Given the description of an element on the screen output the (x, y) to click on. 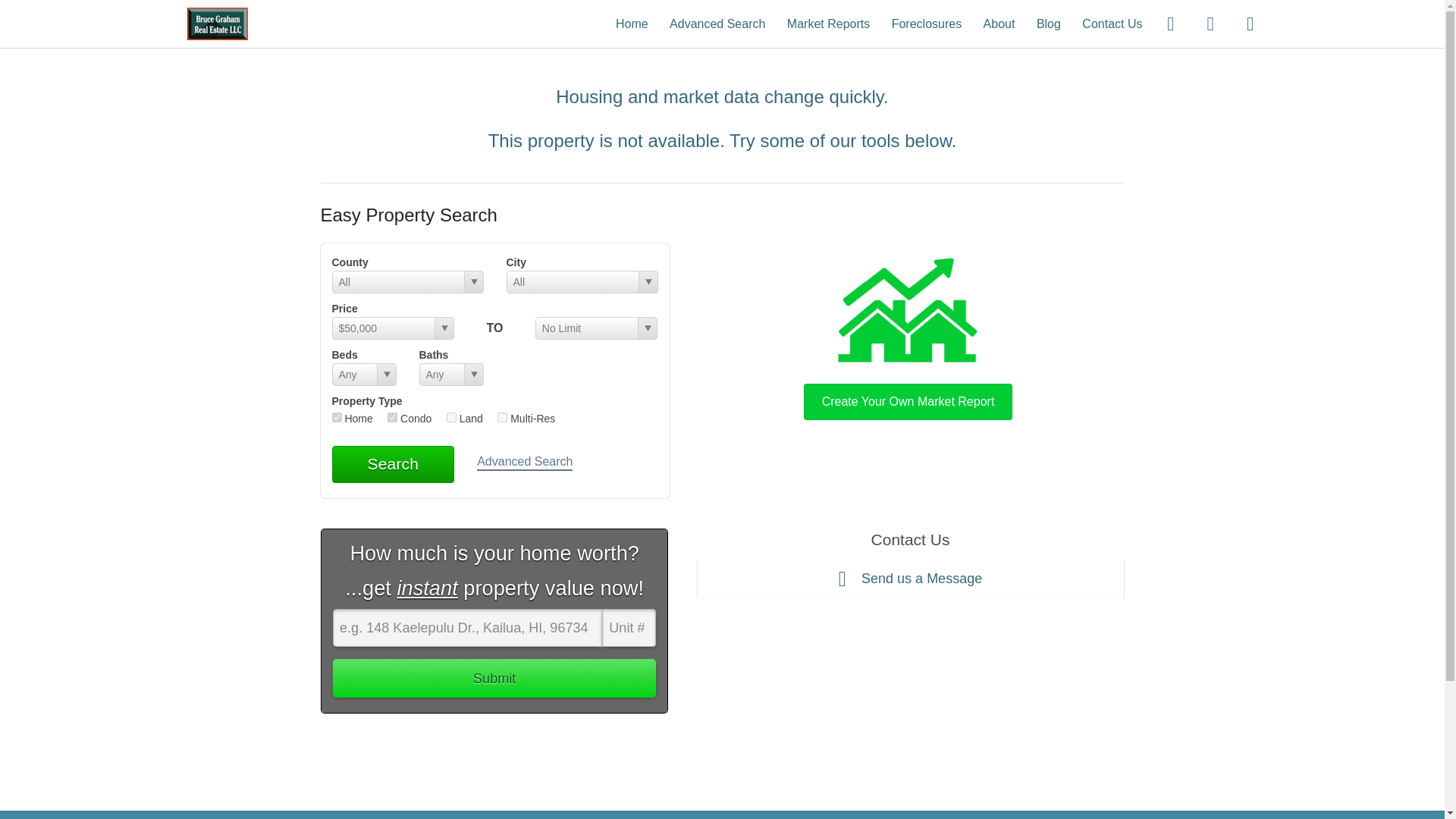
res (336, 417)
Blog (1048, 23)
Send us a Message (909, 578)
Search (392, 463)
lnd (451, 417)
Market Reports (828, 23)
mul (501, 417)
Create Your Own Market Report (907, 335)
About (999, 23)
Search (392, 463)
Advanced Search (524, 462)
con (392, 417)
Advanced Search (717, 23)
Contact Us (1111, 23)
Home (631, 23)
